Given the description of an element on the screen output the (x, y) to click on. 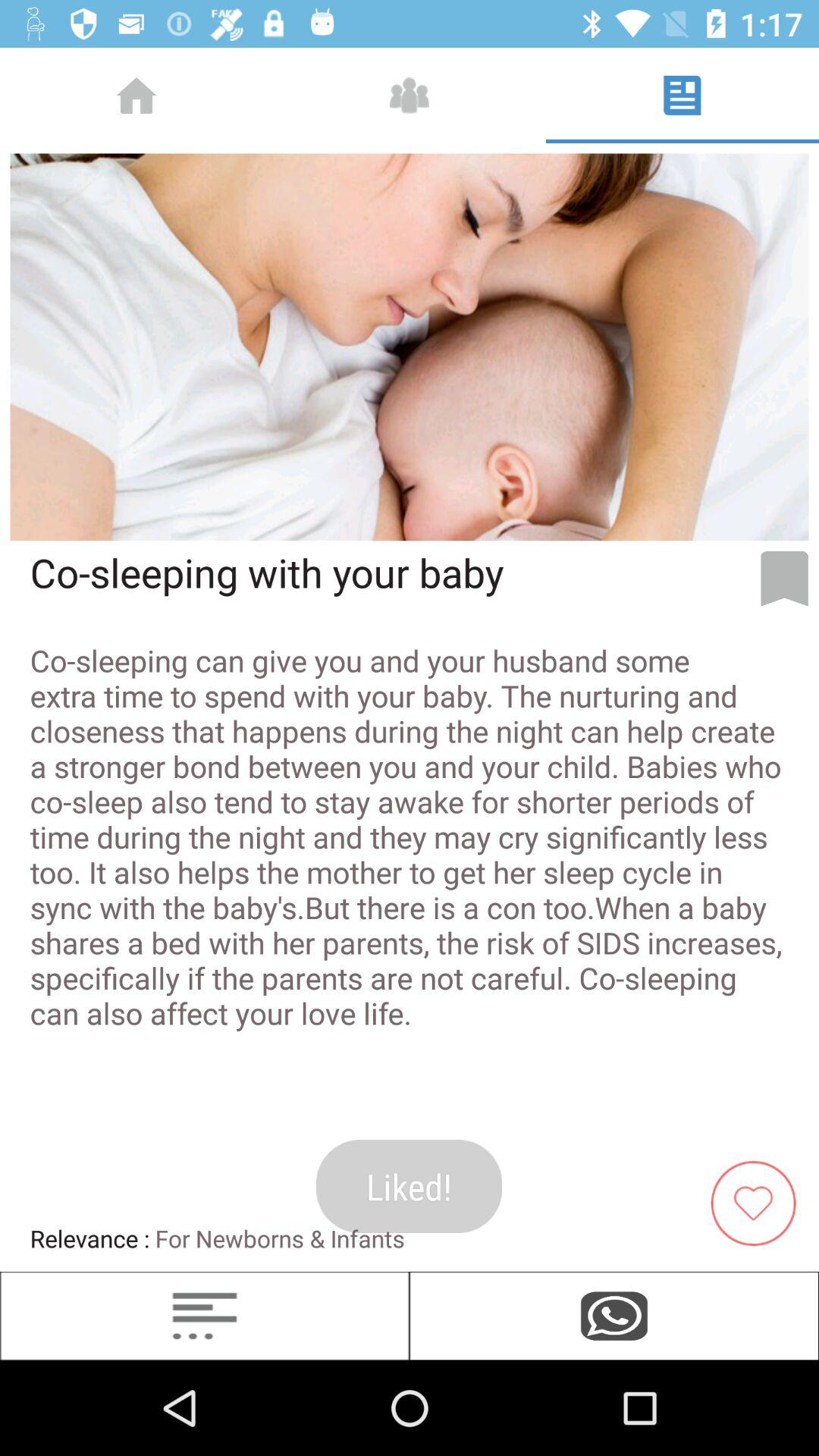
like article (759, 1201)
